Given the description of an element on the screen output the (x, y) to click on. 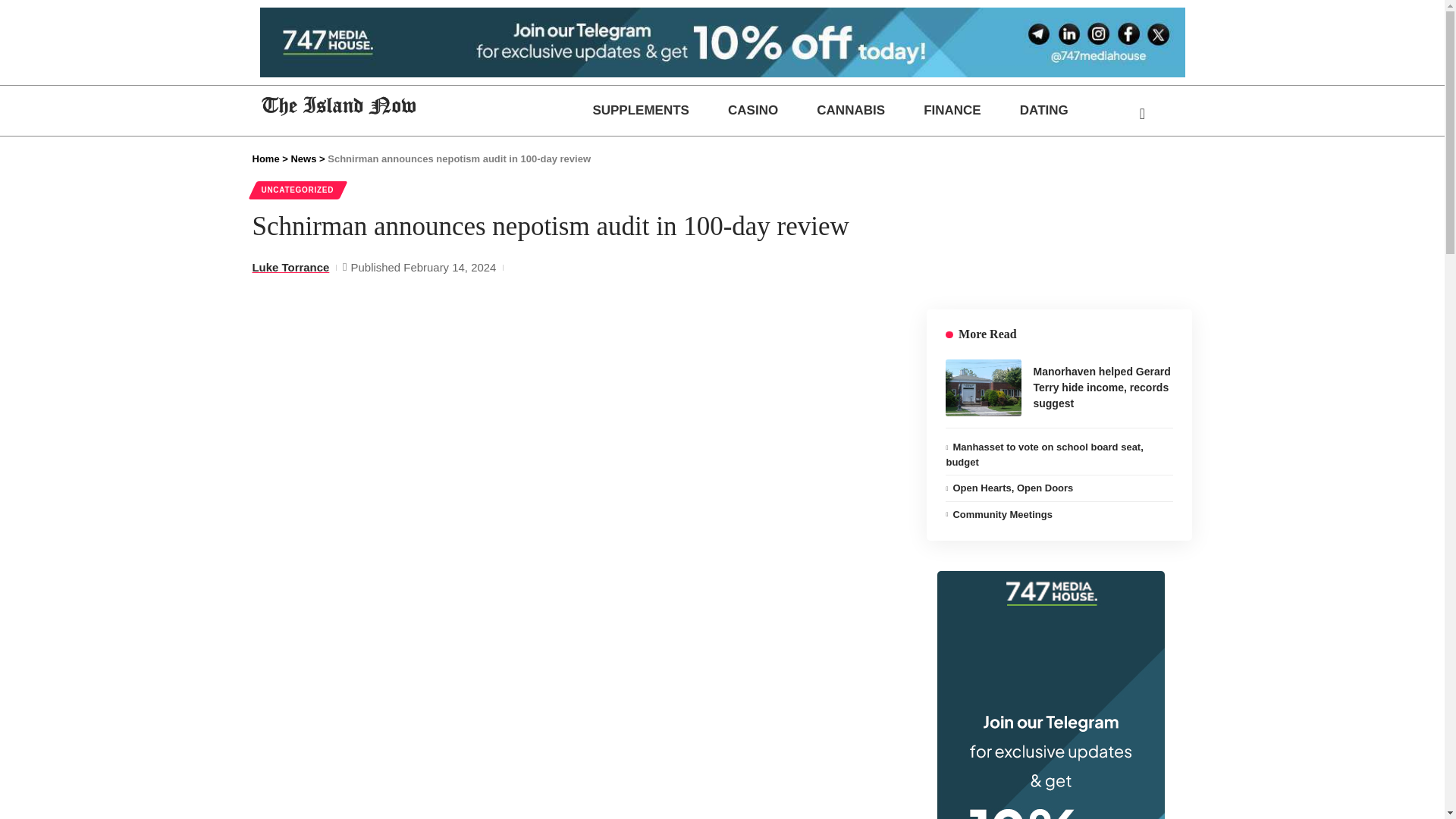
CASINO (751, 109)
Manorhaven helped Gerard Terry hide income, records suggest (1101, 387)
Go to the News Category archives. (302, 158)
Community Meetings (1001, 514)
CANNABIS (850, 109)
SUPPLEMENTS (641, 109)
Manorhaven helped Gerard Terry hide income, records suggest (983, 387)
UNCATEGORIZED (296, 189)
Luke Torrance (290, 266)
FINANCE (952, 109)
